Given the description of an element on the screen output the (x, y) to click on. 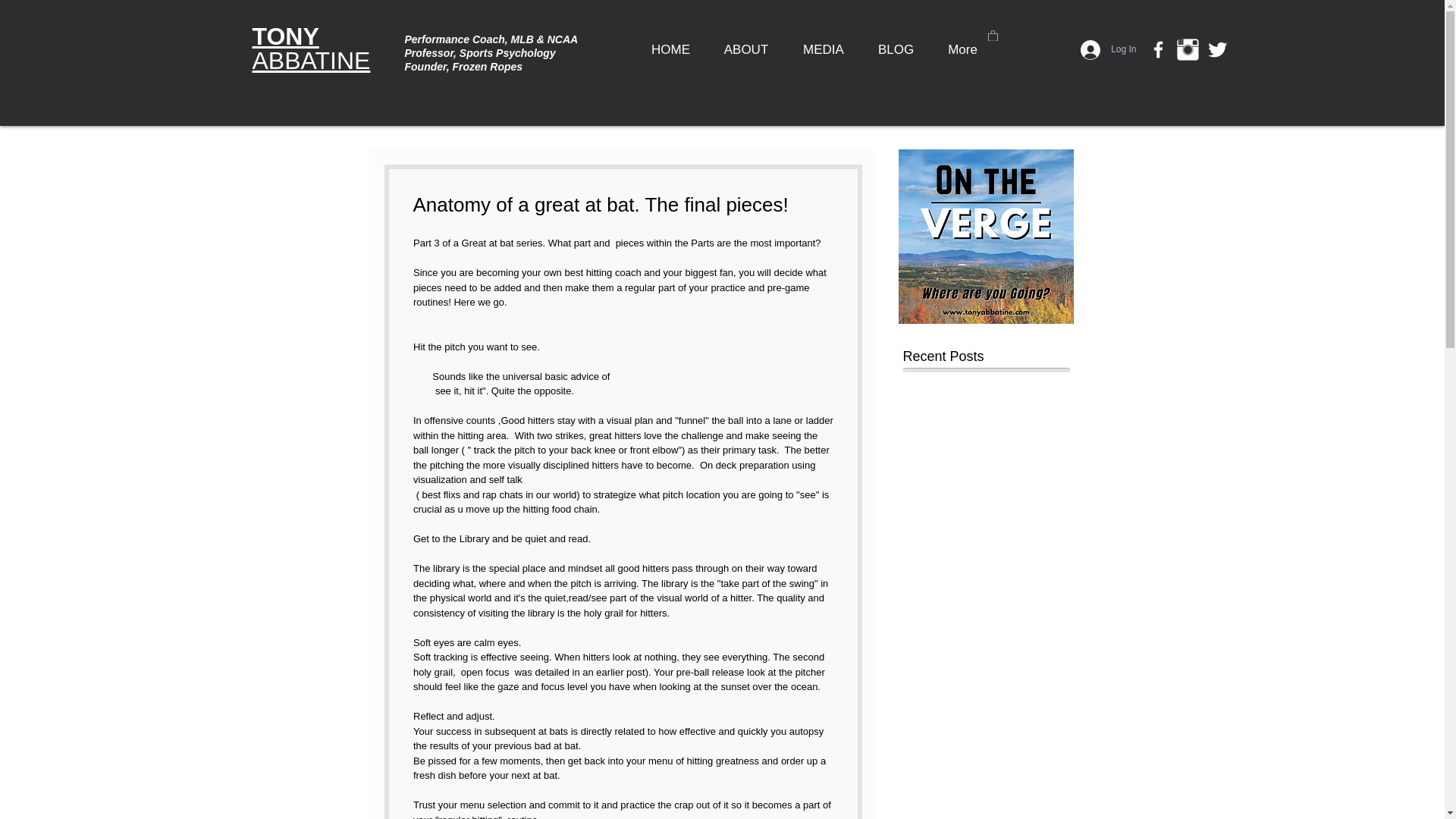
ABOUT (745, 49)
MEDIA (823, 49)
HOME (669, 49)
BLOG (895, 49)
Log In (310, 48)
